Given the description of an element on the screen output the (x, y) to click on. 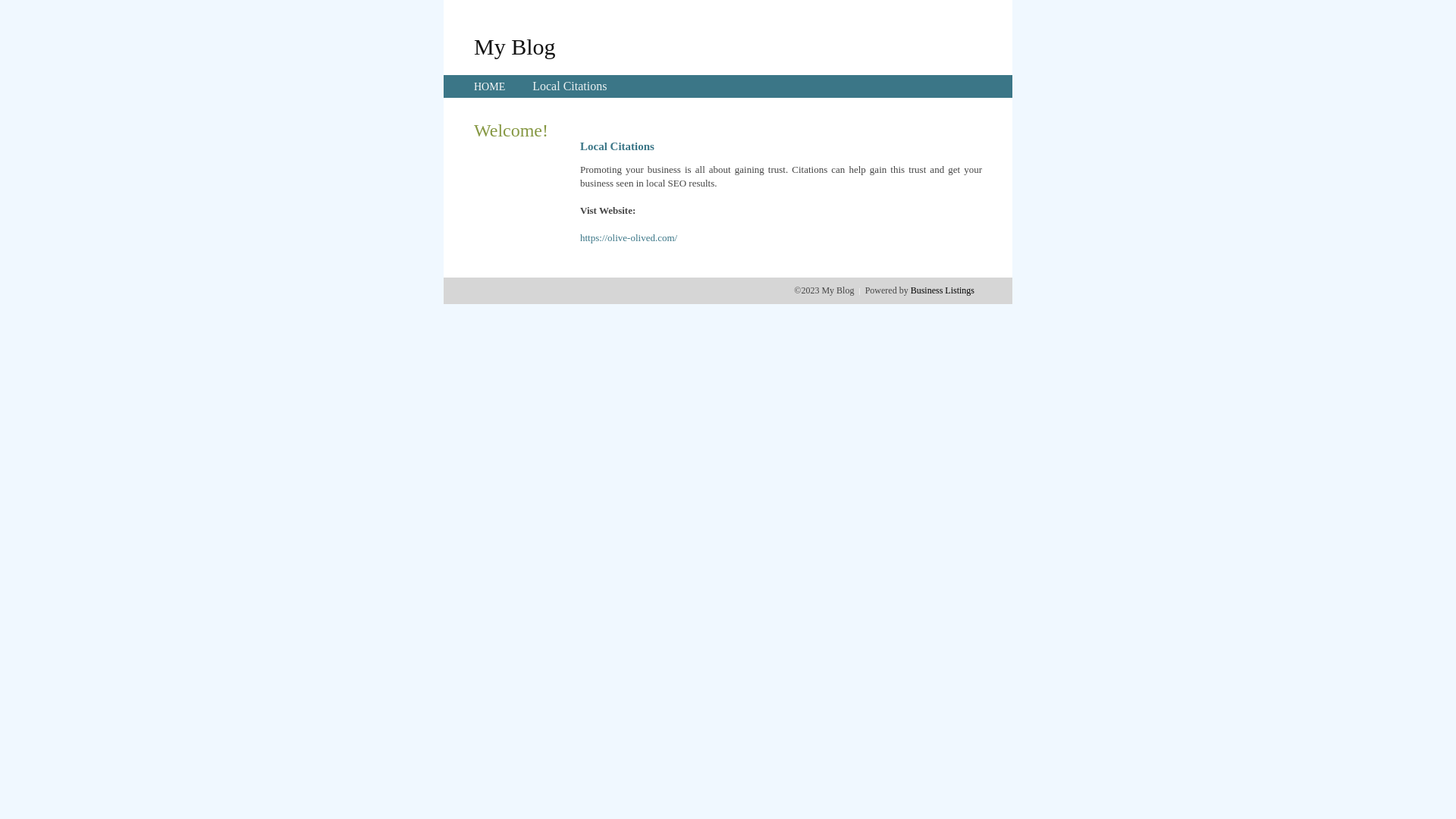
Business Listings Element type: text (942, 290)
My Blog Element type: text (514, 46)
Local Citations Element type: text (569, 85)
HOME Element type: text (489, 86)
https://olive-olived.com/ Element type: text (628, 237)
